Given the description of an element on the screen output the (x, y) to click on. 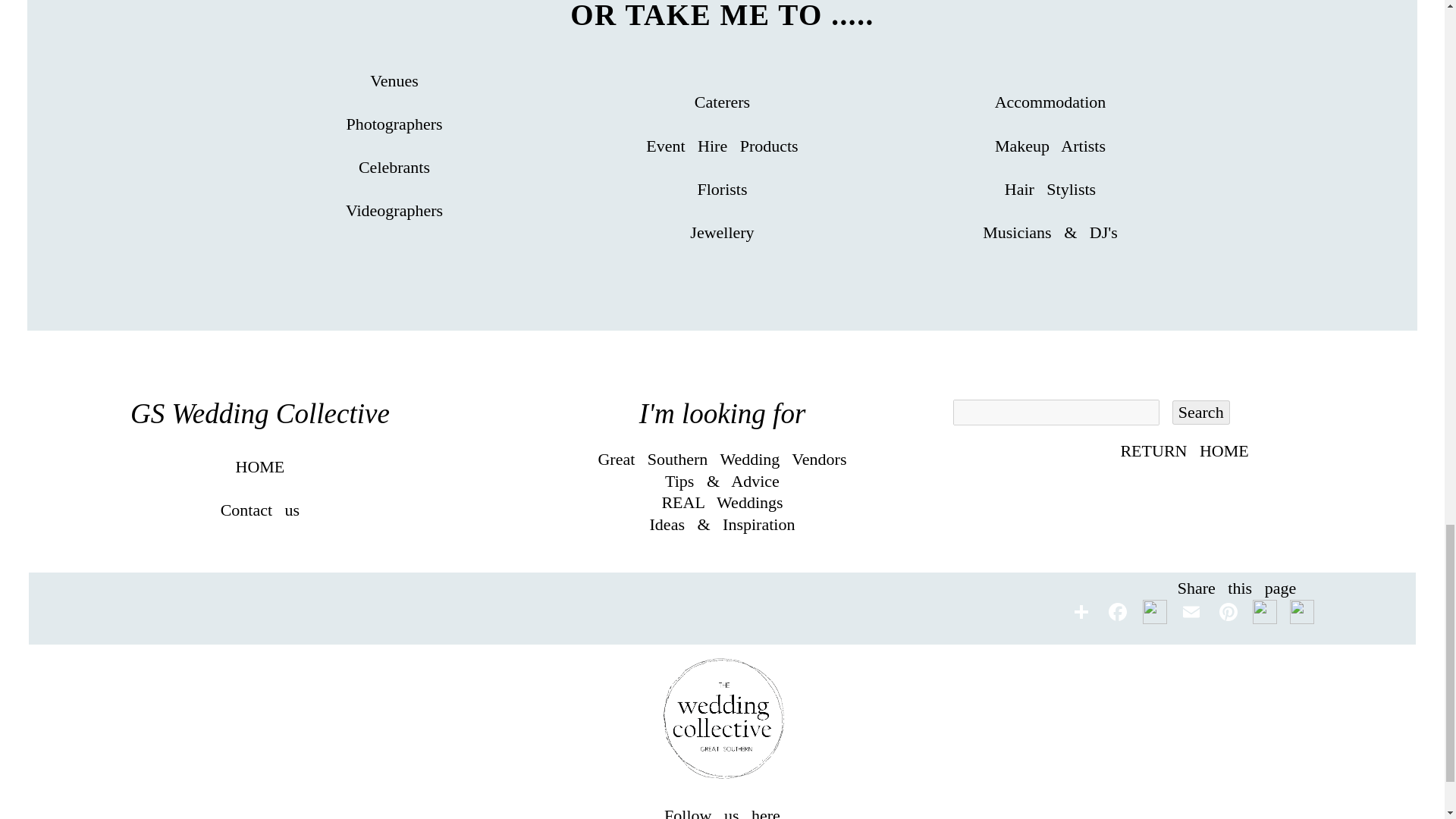
RETURN HOME (1183, 450)
Accommodation (1050, 101)
Florists (721, 189)
HOME (258, 466)
Celebrants (393, 167)
Videographers (394, 210)
Search (1201, 412)
Event Hire Products (721, 145)
Hair Stylists (1050, 189)
Caterers (721, 101)
